Given the description of an element on the screen output the (x, y) to click on. 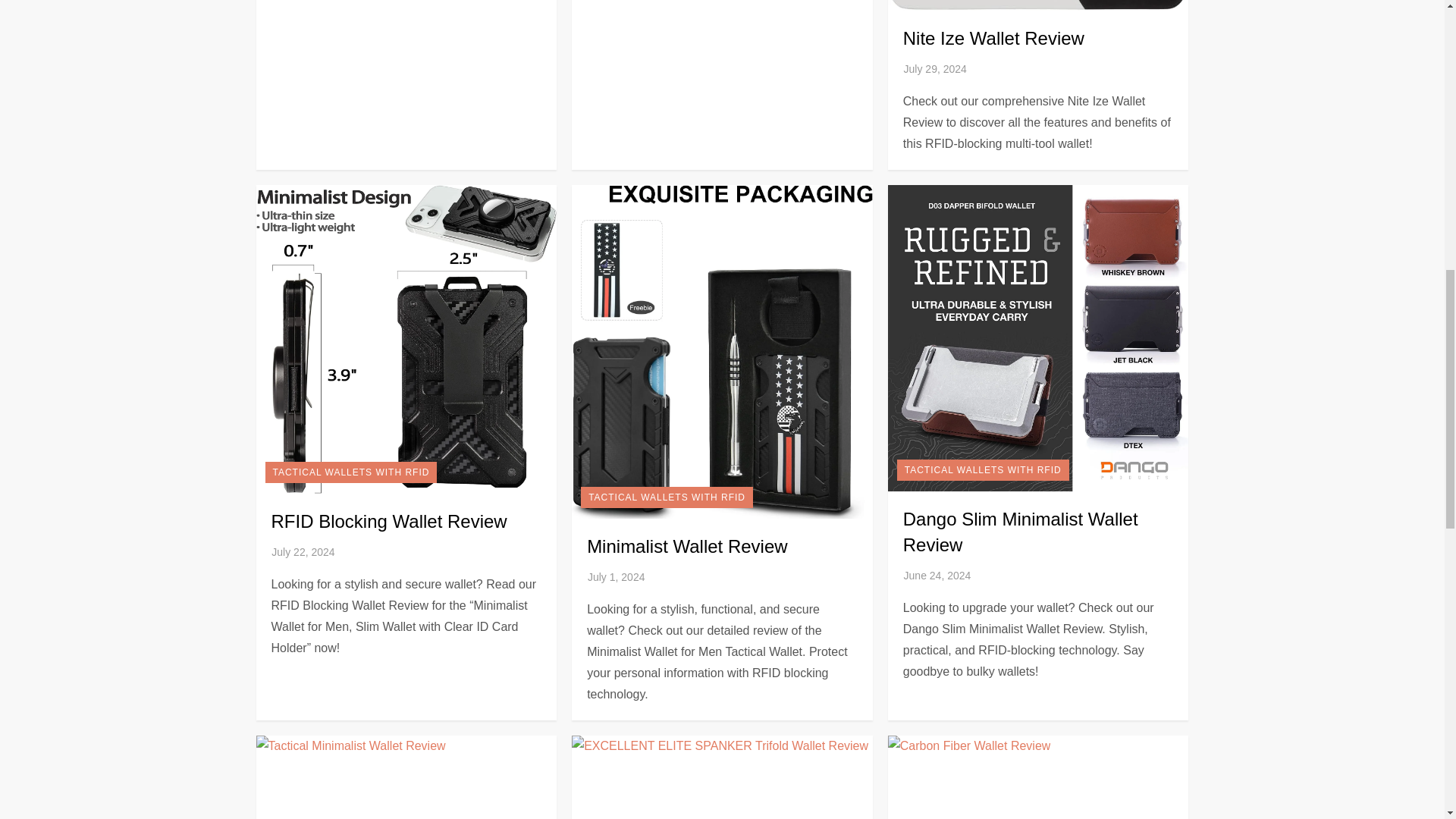
July 1, 2024 (616, 576)
July 22, 2024 (302, 551)
TACTICAL WALLETS WITH RFID (982, 469)
RFID Blocking Wallet Review (388, 521)
TACTICAL WALLETS WITH RFID (351, 472)
TACTICAL WALLETS WITH RFID (666, 496)
Minimalist Wallet Review (686, 546)
July 29, 2024 (935, 69)
Nite Ize Wallet Review (993, 37)
